Given the description of an element on the screen output the (x, y) to click on. 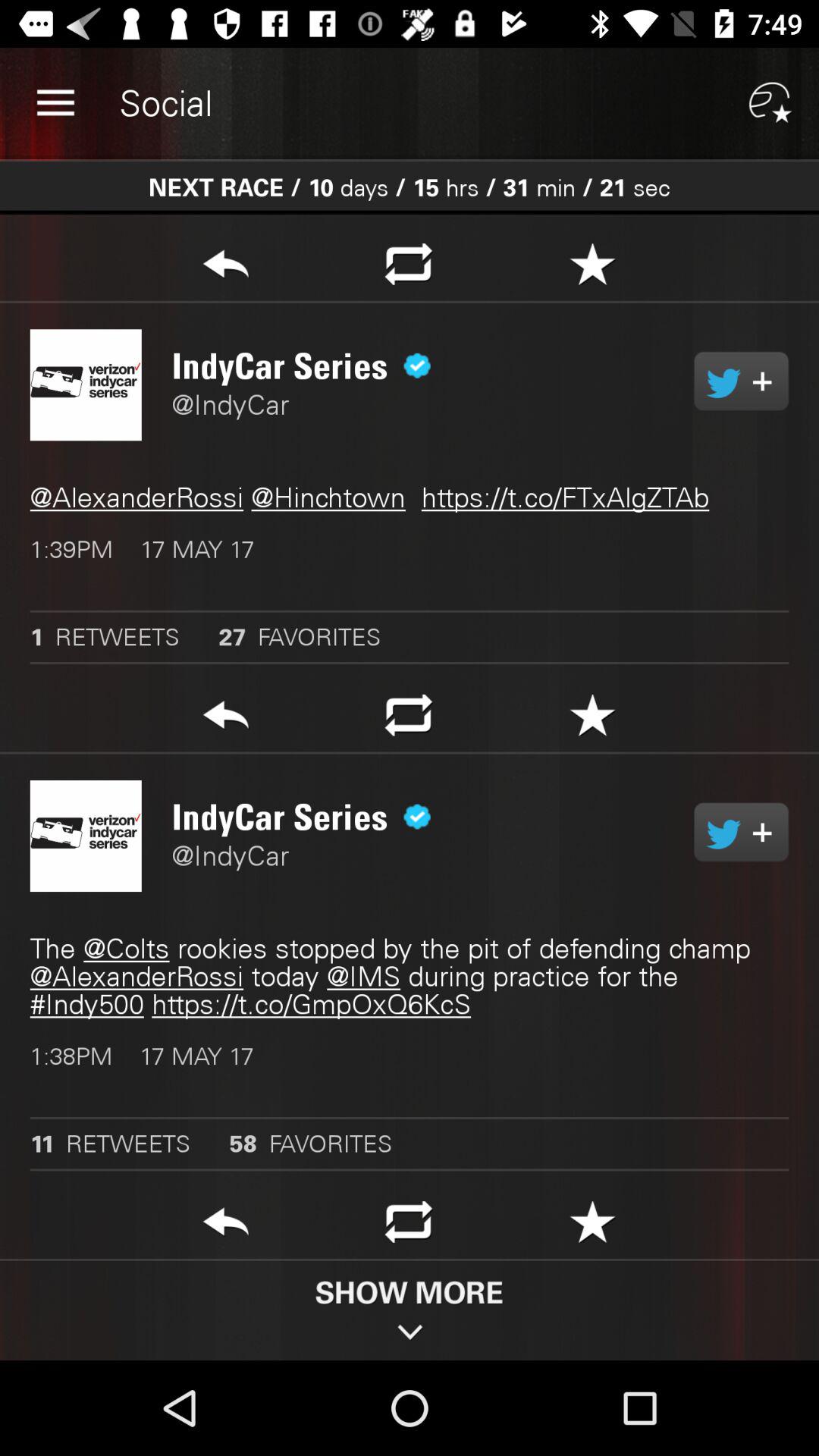
refresh (408, 1226)
